Given the description of an element on the screen output the (x, y) to click on. 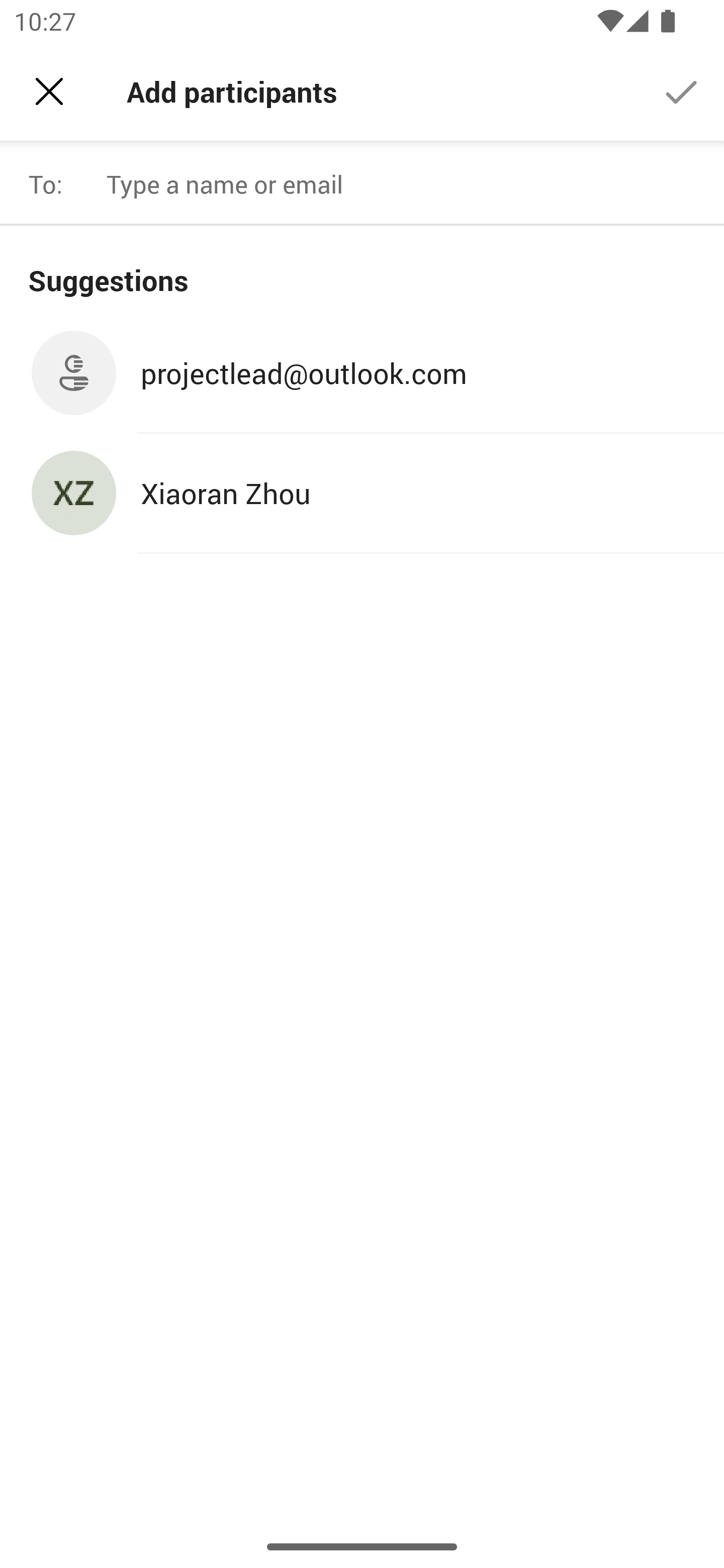
Back (49, 91)
Submit (681, 90)
Add users Type a name or email (407, 184)
